Given the description of an element on the screen output the (x, y) to click on. 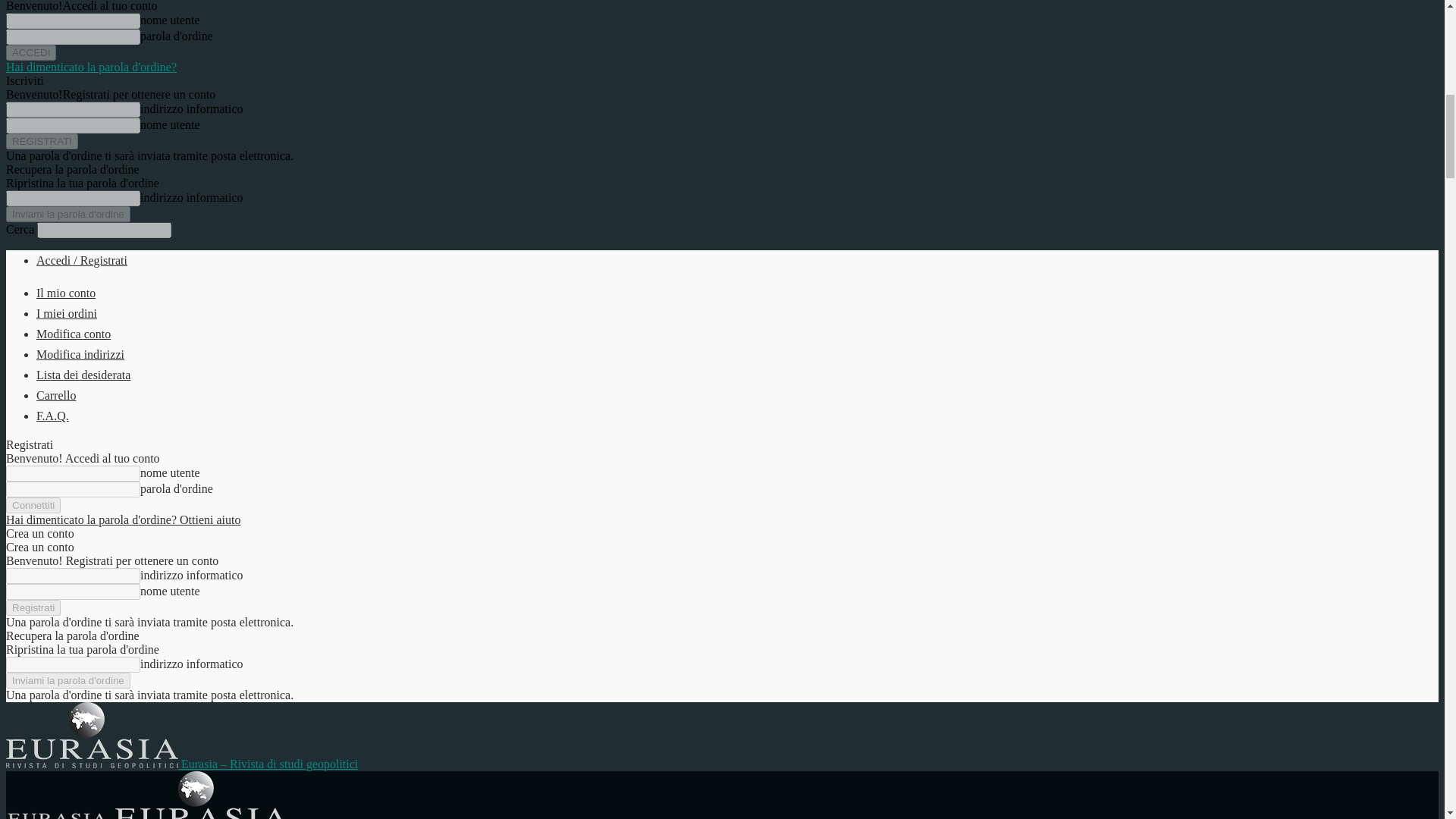
Inviami la parola d'ordine (68, 680)
Inviami la parola d'ordine (68, 213)
Registrati (33, 607)
REGISTRATI (41, 141)
Connettiti (33, 505)
ACCEDI (30, 52)
